Given the description of an element on the screen output the (x, y) to click on. 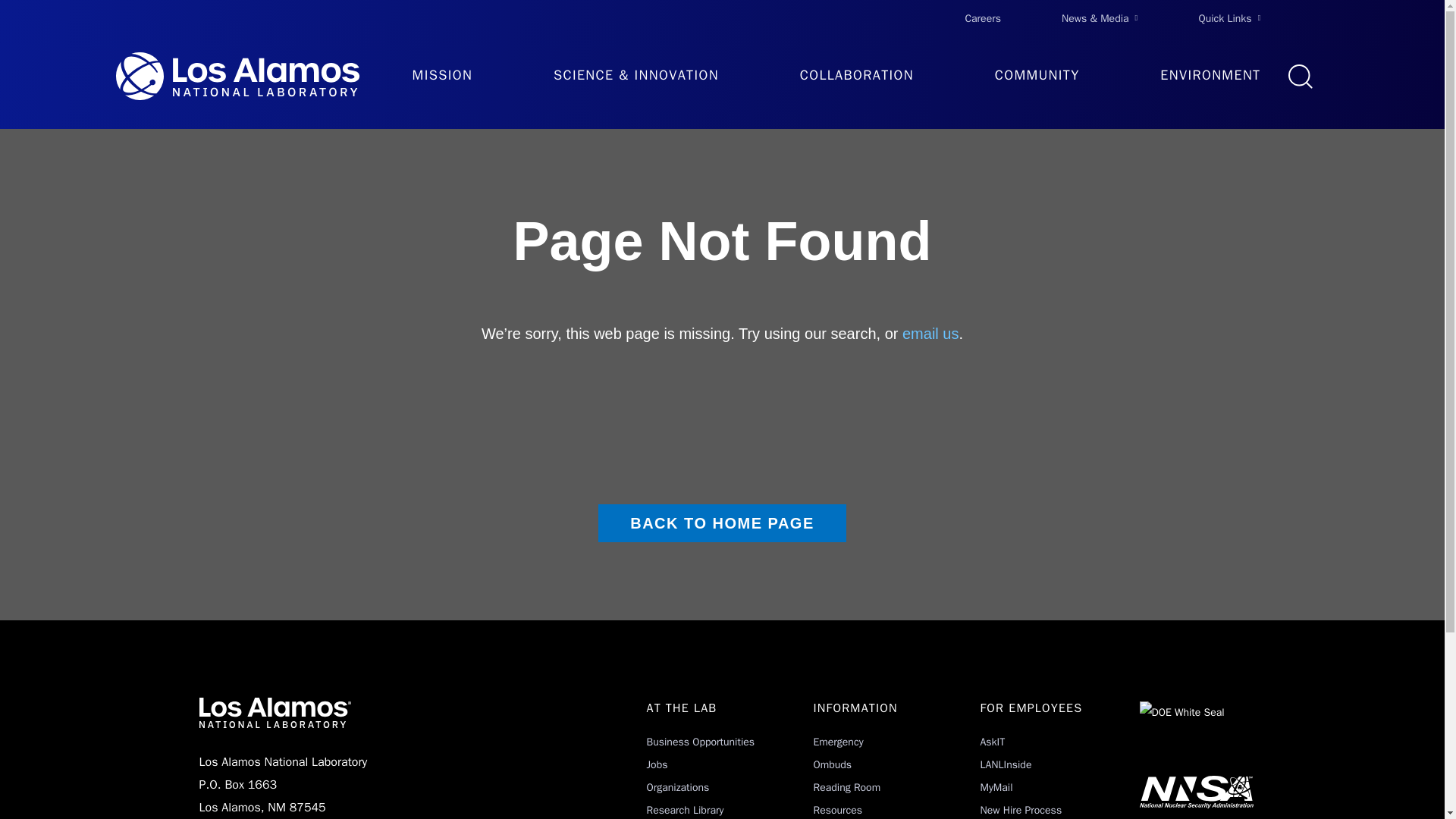
email us (930, 333)
Research Library (684, 809)
AskIT (991, 741)
BACK TO HOME PAGE (721, 523)
Reading Room (846, 787)
Careers (982, 18)
Resources (836, 809)
Organizations (677, 787)
Jobs (656, 764)
Emergency (837, 741)
